Given the description of an element on the screen output the (x, y) to click on. 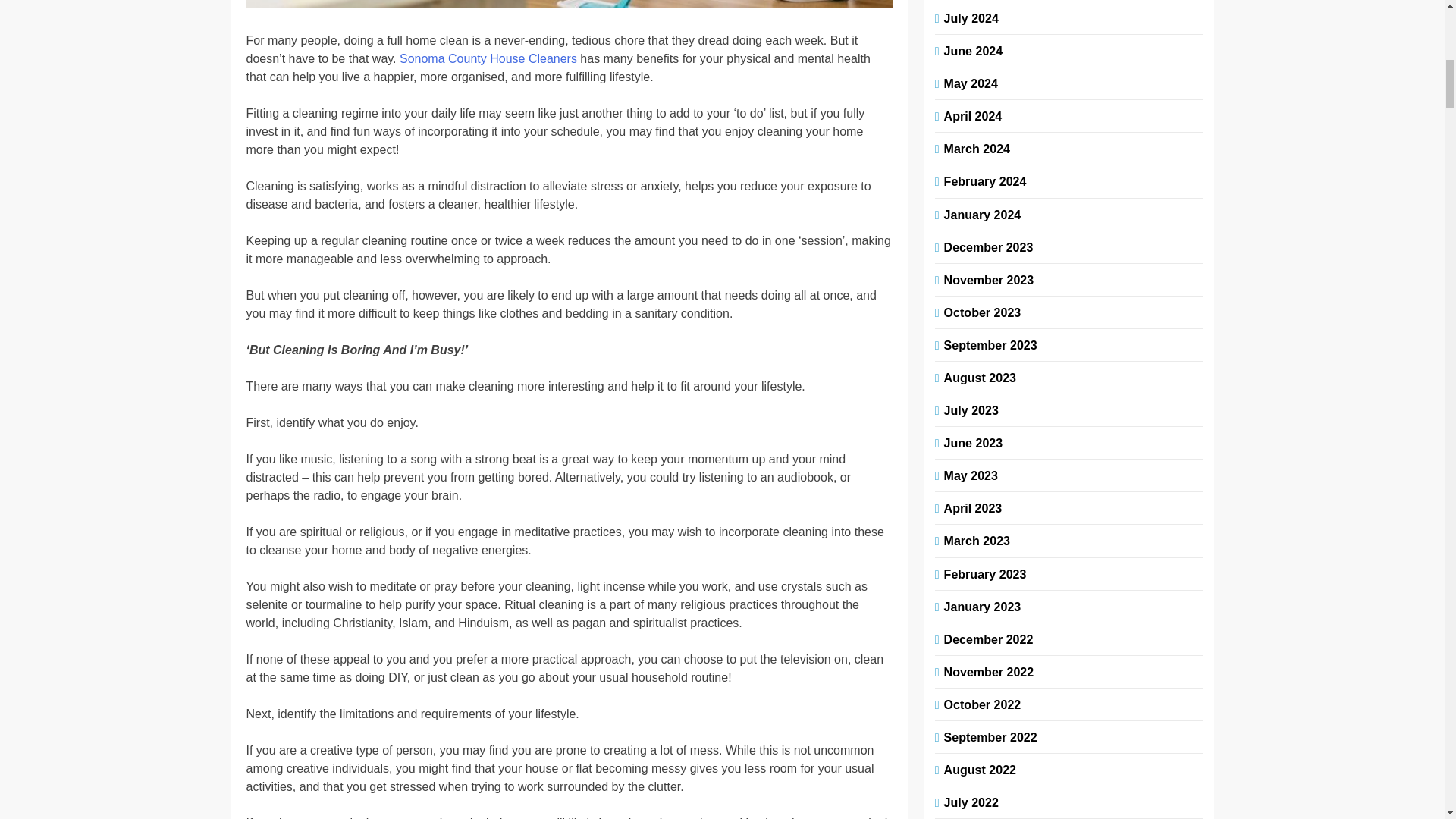
Sonoma County House Cleaners (487, 58)
